Given the description of an element on the screen output the (x, y) to click on. 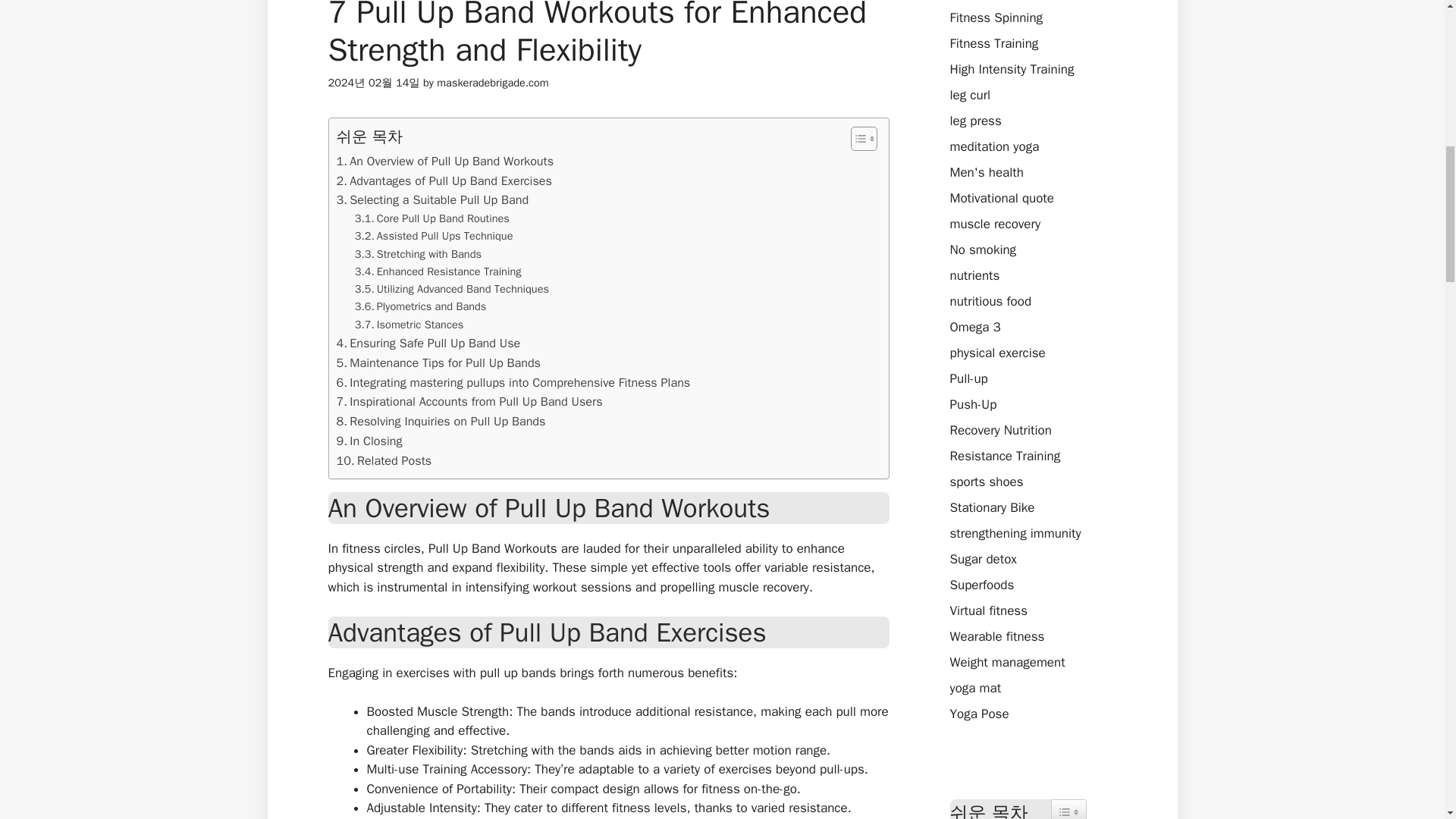
Utilizing Advanced Band Techniques (451, 289)
Stretching with Bands (418, 253)
An Overview of Pull Up Band Workouts (445, 161)
Utilizing Advanced Band Techniques (451, 289)
Maintenance Tips for Pull Up Bands (438, 362)
In Closing (369, 441)
Core Pull Up Band Routines (432, 218)
Related Posts (384, 460)
Plyometrics and Bands (420, 306)
Ensuring Safe Pull Up Band Use (428, 342)
Advantages of Pull Up Band Exercises (443, 180)
View all posts by maskeradebrigade.com (492, 82)
Inspirational Accounts from Pull Up Band Users (469, 401)
